Given the description of an element on the screen output the (x, y) to click on. 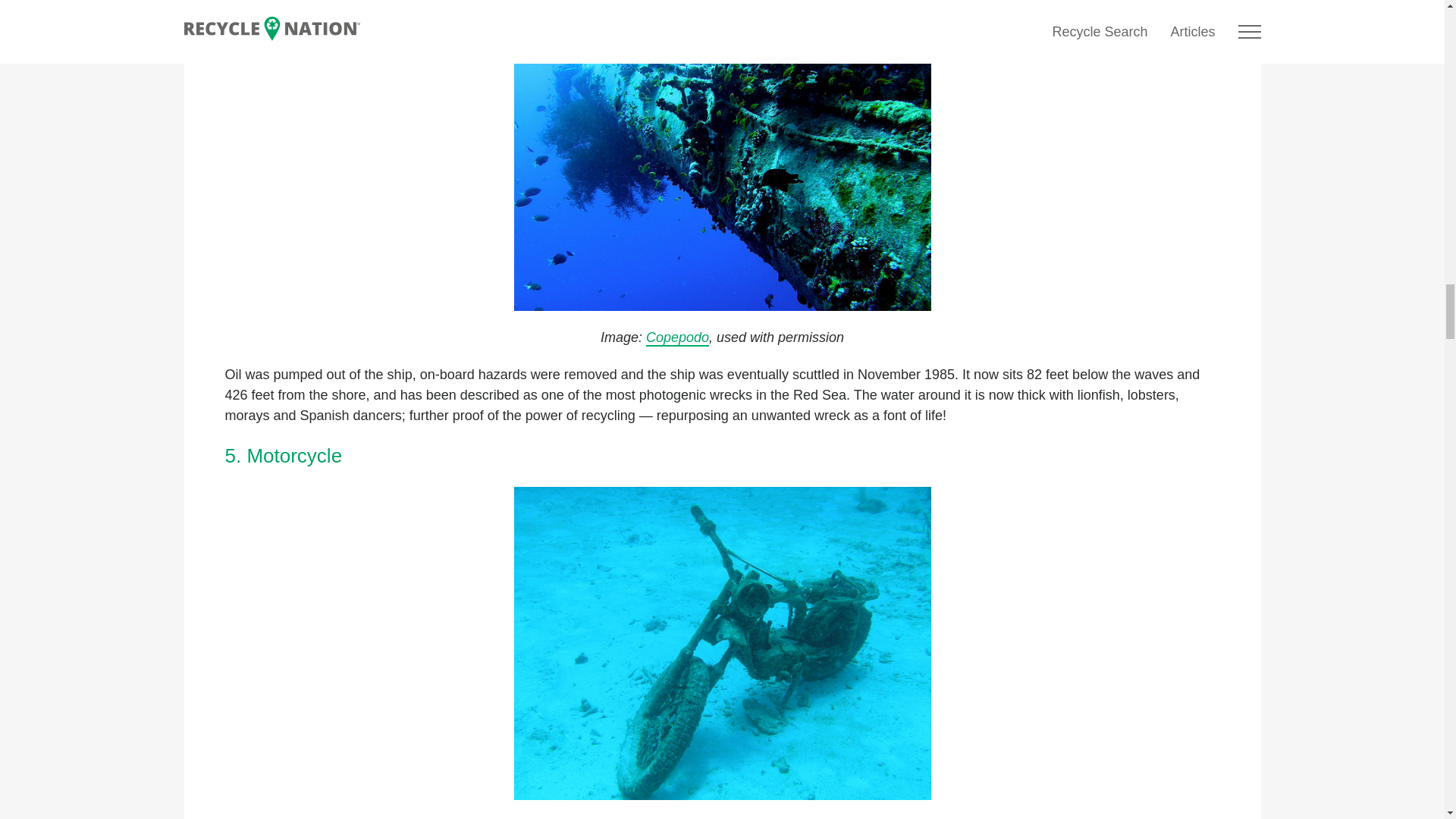
Copepodo (677, 338)
sunken-recycled-vehicle-reef-9 (722, 156)
sunken-recycled-vehicle-reef-10 (722, 643)
